Given the description of an element on the screen output the (x, y) to click on. 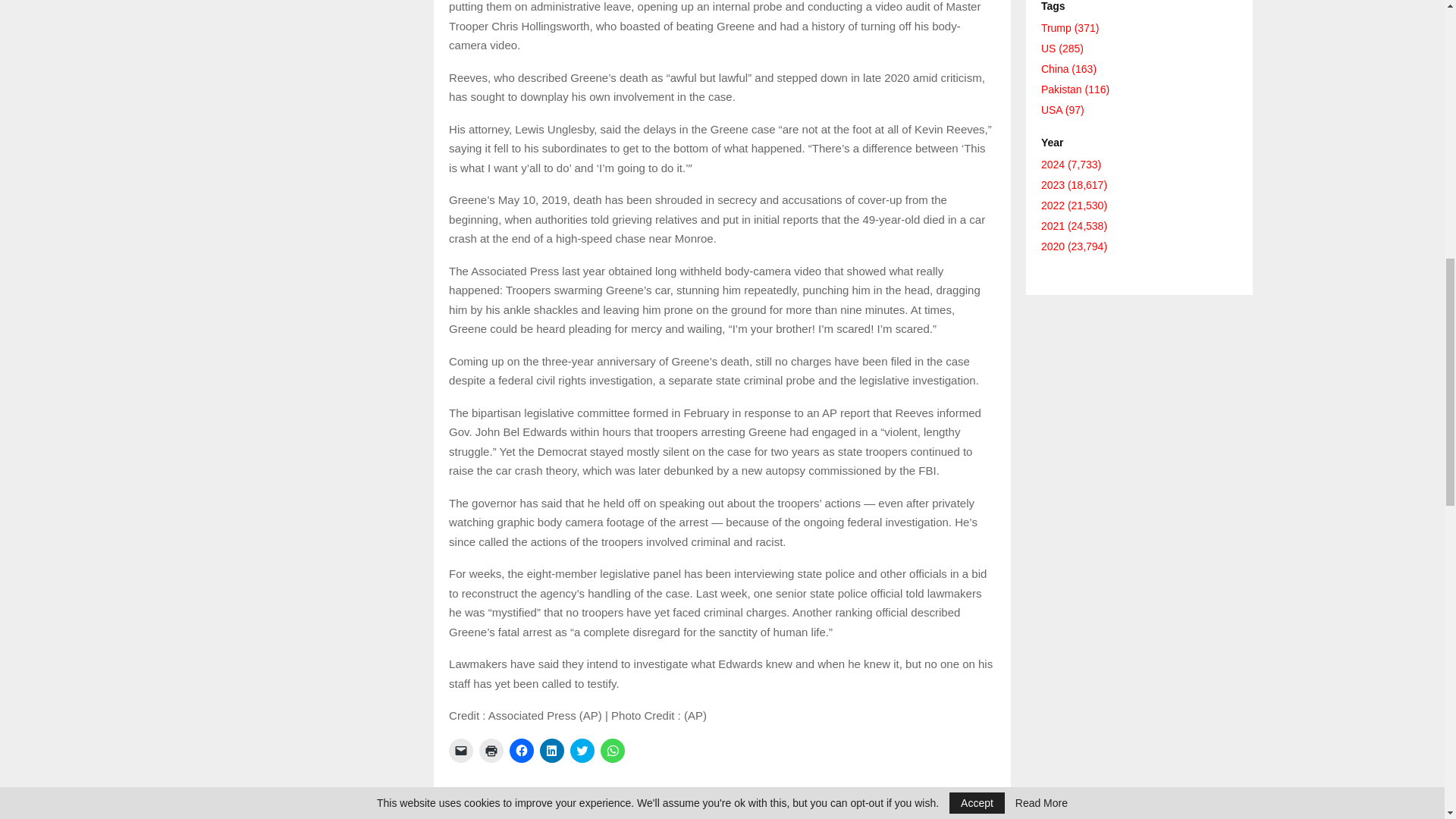
Click to email a link to a friend (460, 750)
Click to share on LinkedIn (552, 750)
Click to print (491, 750)
Click to share on Facebook (521, 750)
